Given the description of an element on the screen output the (x, y) to click on. 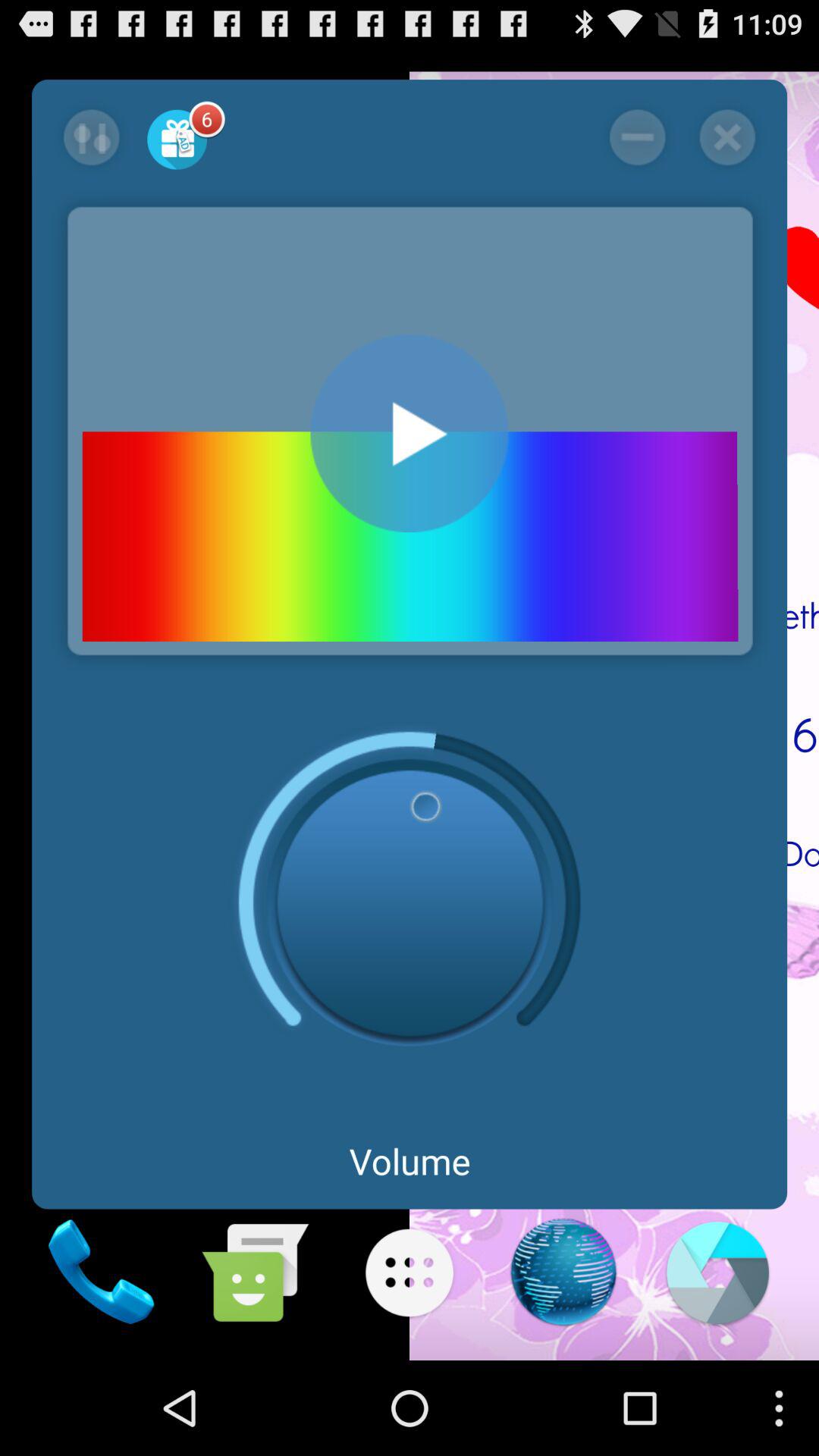
play (409, 433)
